Given the description of an element on the screen output the (x, y) to click on. 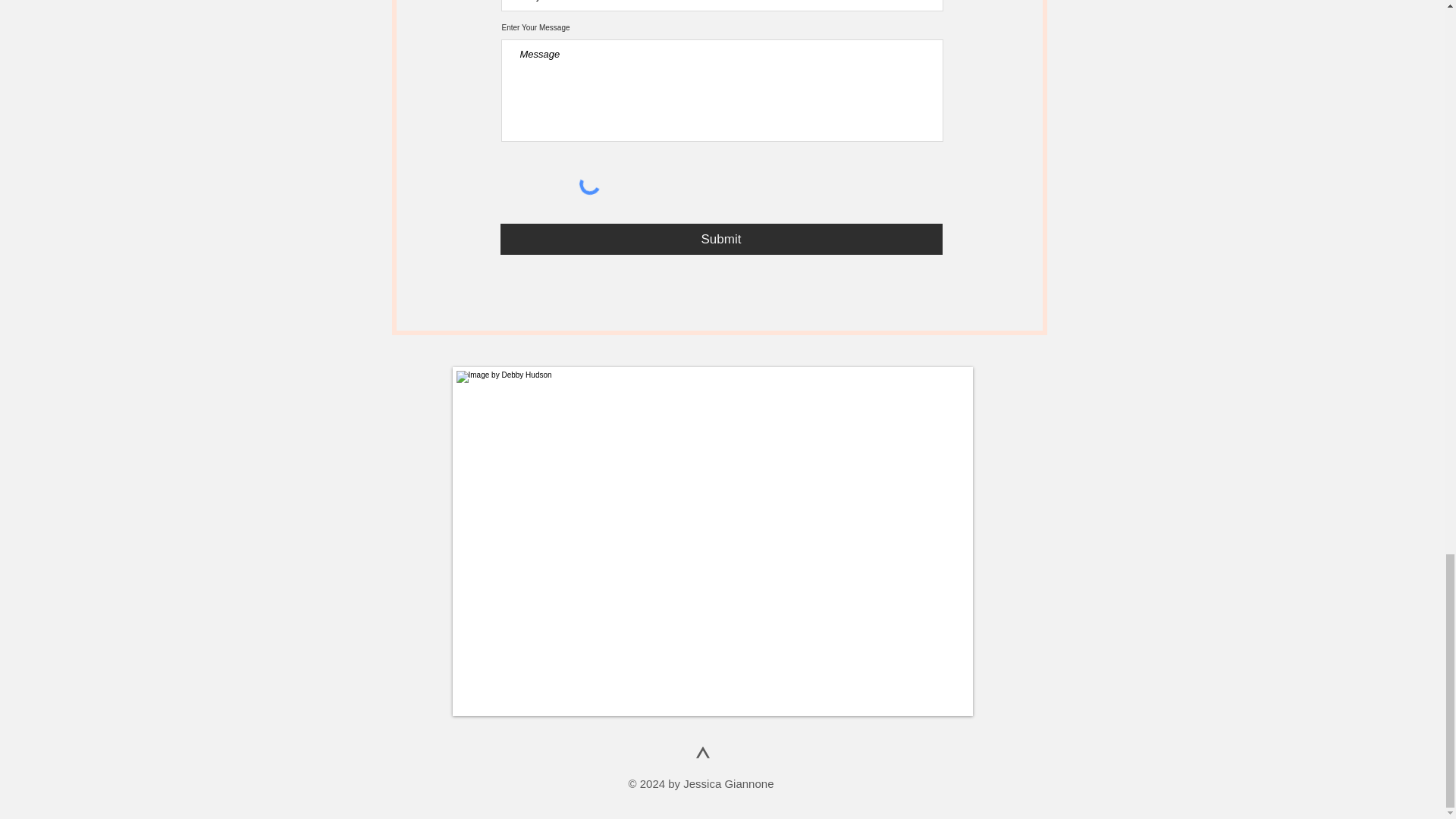
Submit (721, 238)
